Given the description of an element on the screen output the (x, y) to click on. 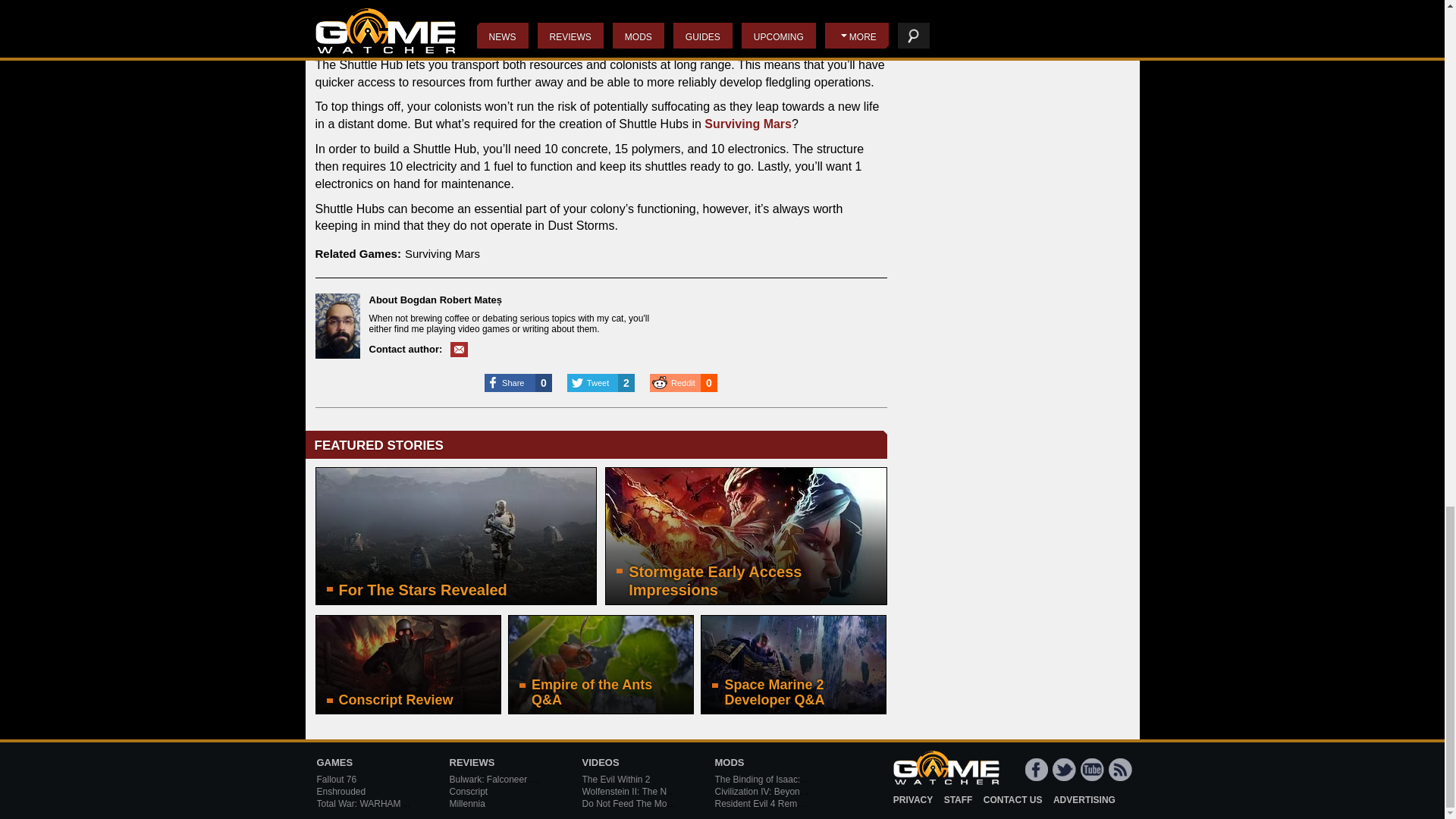
Conscript Review (407, 664)
Surviving Mars (748, 123)
Email (458, 349)
Surviving Mars (442, 253)
For The Stars Revealed (455, 535)
Stormgate Early Access Impressions (745, 535)
